Given the description of an element on the screen output the (x, y) to click on. 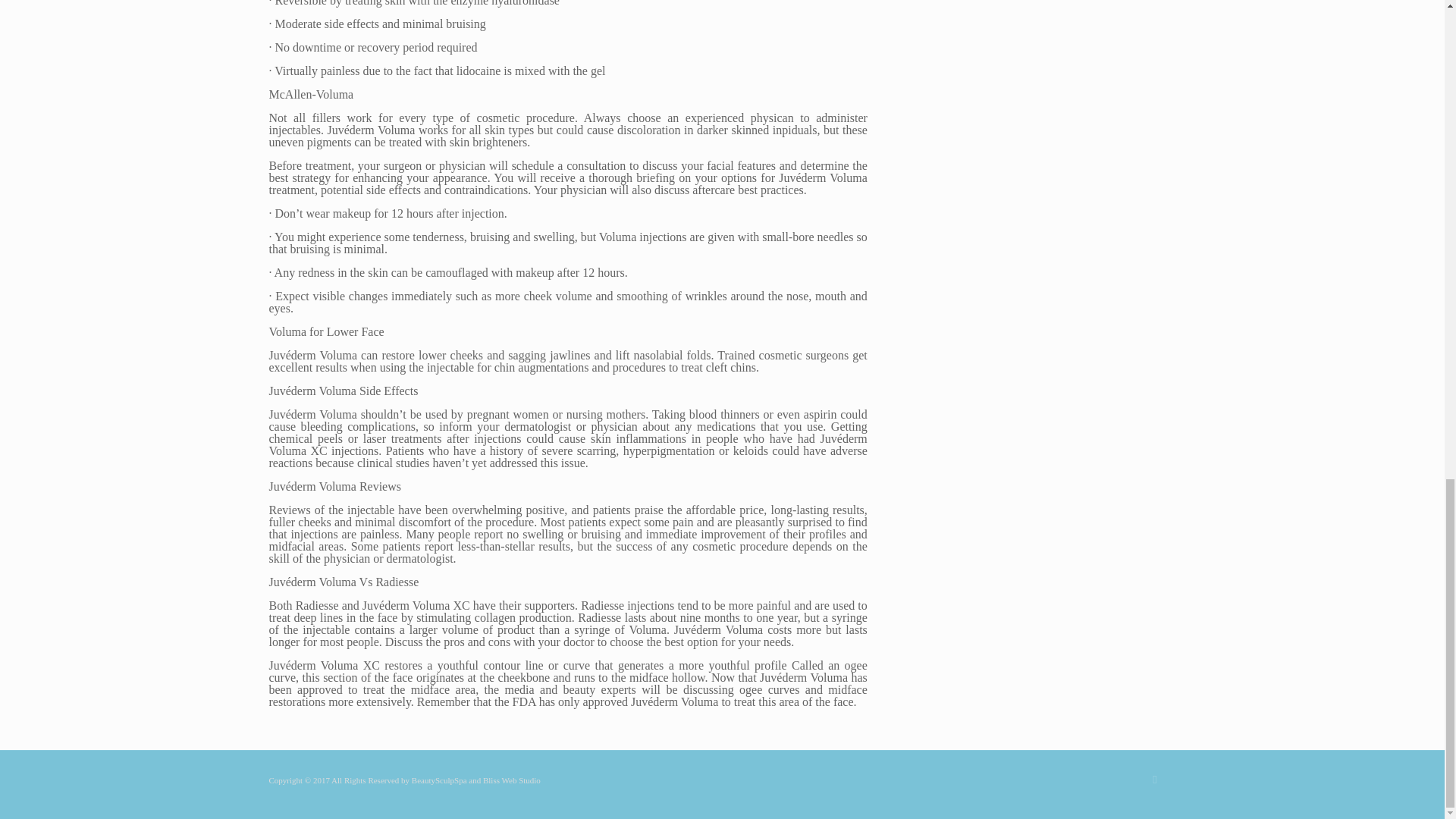
Visit our website (511, 779)
Facebook (1155, 779)
Bliss Web Studio (511, 779)
